Given the description of an element on the screen output the (x, y) to click on. 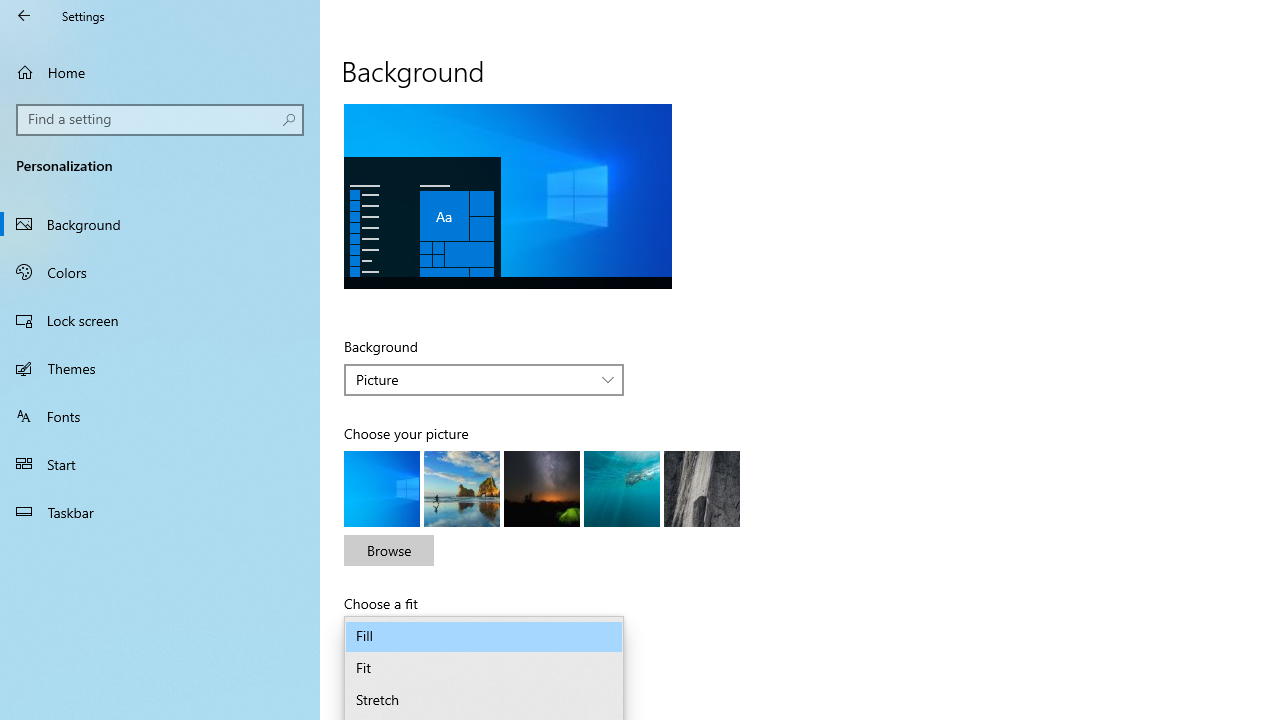
Back (24, 15)
Themes (160, 367)
Colors (160, 271)
